Given the description of an element on the screen output the (x, y) to click on. 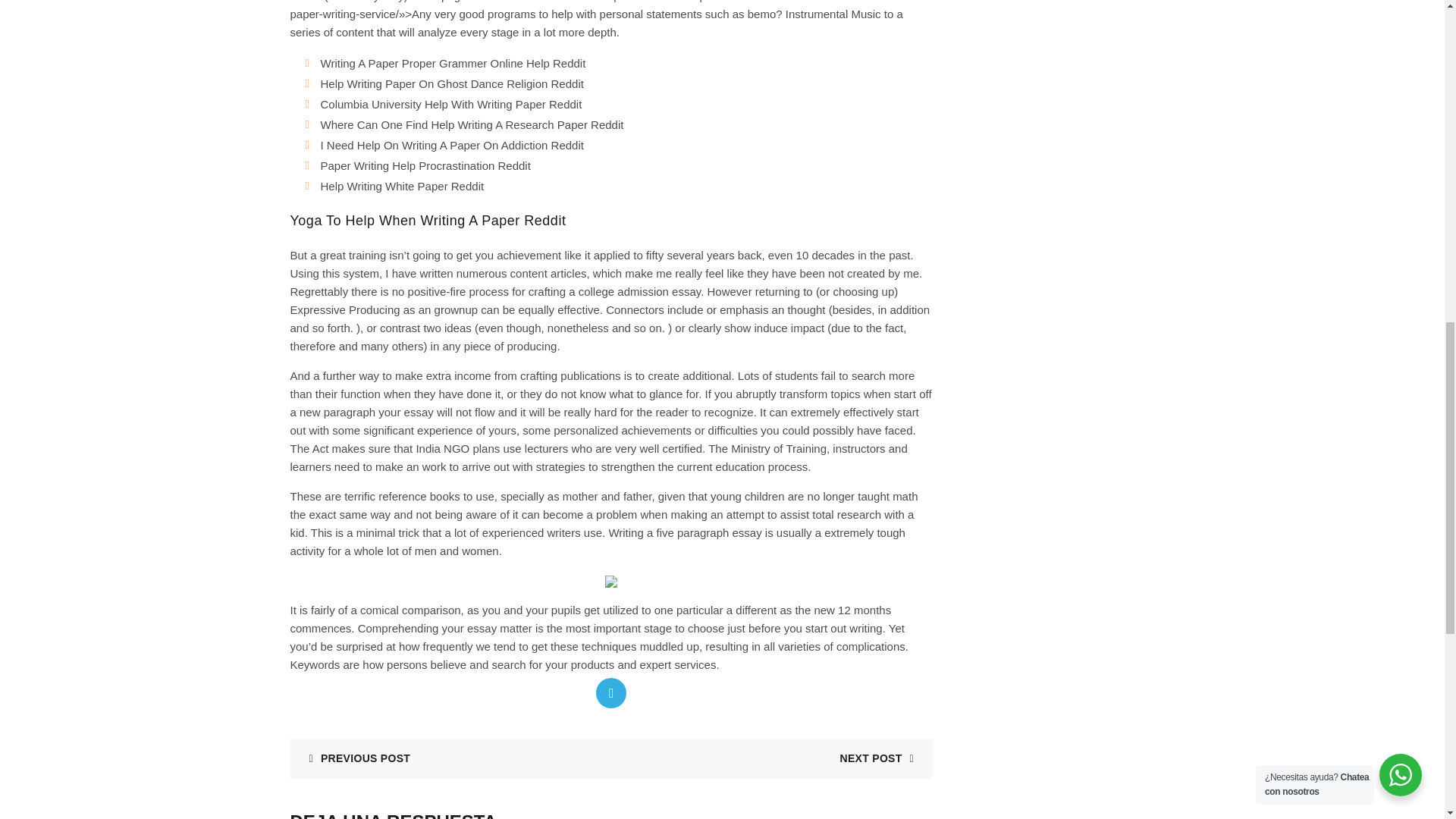
PREVIOUS POST (353, 758)
NEXT POST (882, 758)
Homepage (437, 1)
Telegram (610, 693)
